Given the description of an element on the screen output the (x, y) to click on. 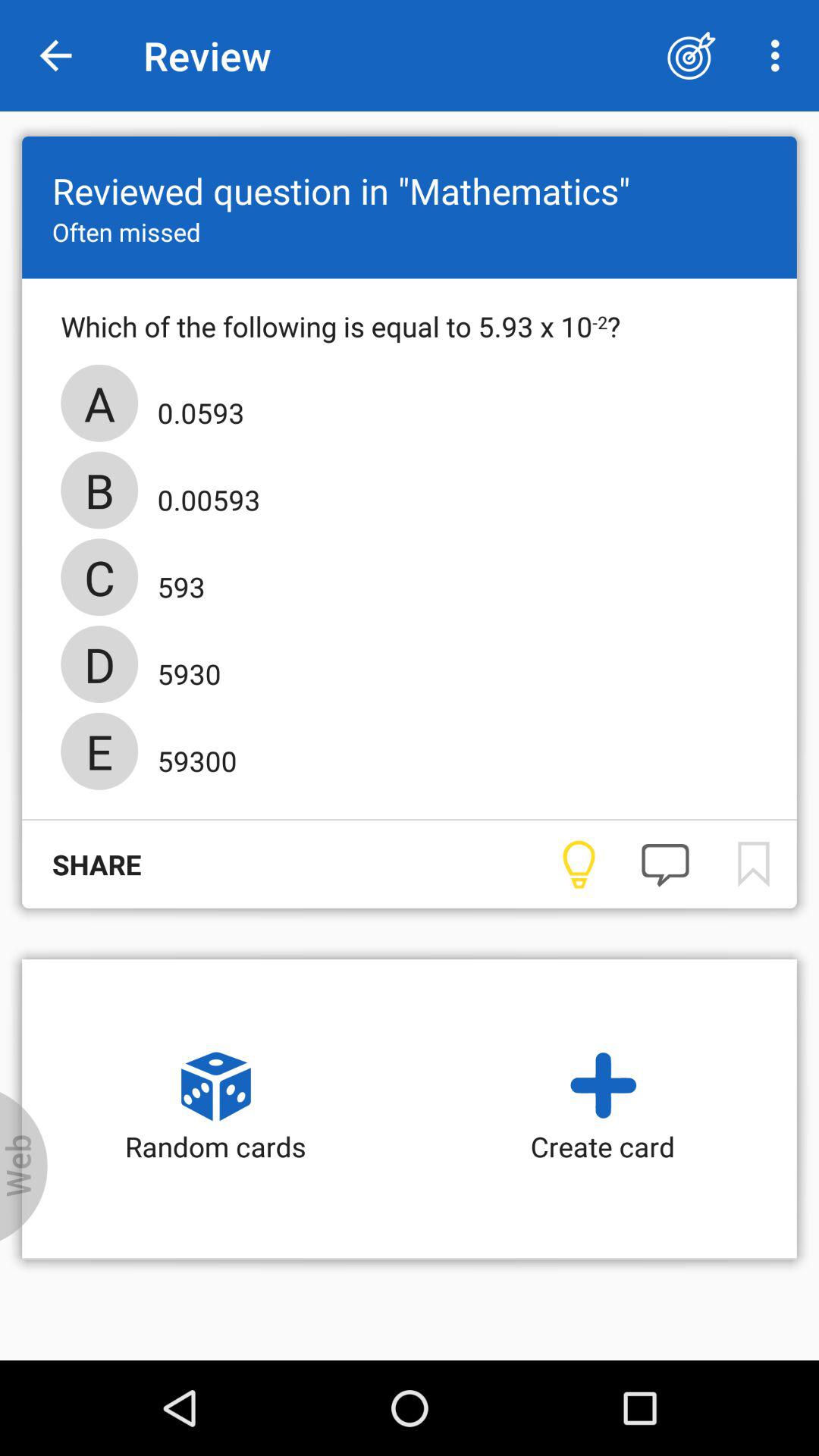
bookmark (752, 864)
